Given the description of an element on the screen output the (x, y) to click on. 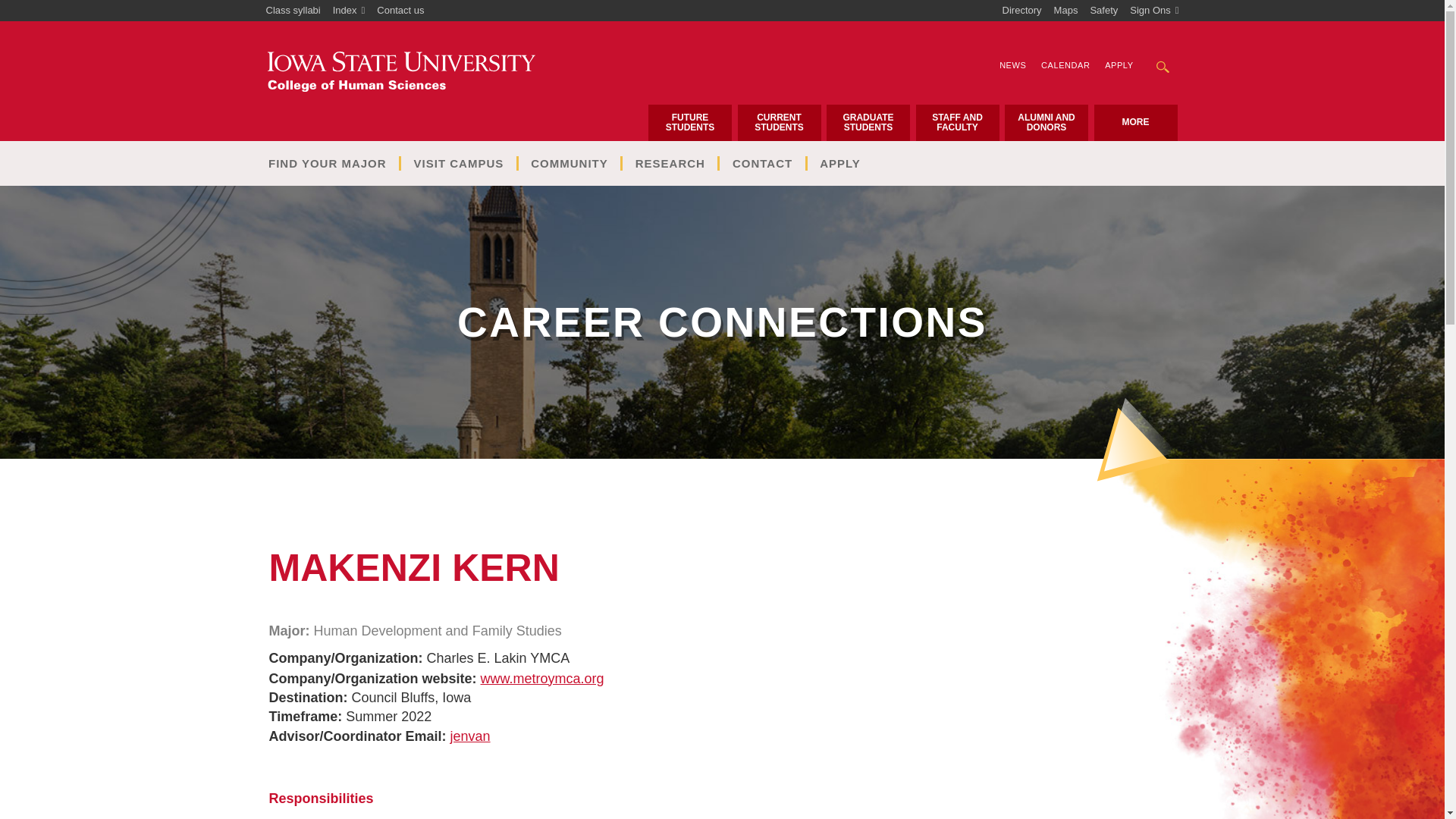
Directory (1021, 10)
Safety (1103, 10)
Index (348, 10)
Maps (1066, 10)
Sign Ons (1154, 10)
Contact us (400, 10)
Class syllabi (292, 10)
